Given the description of an element on the screen output the (x, y) to click on. 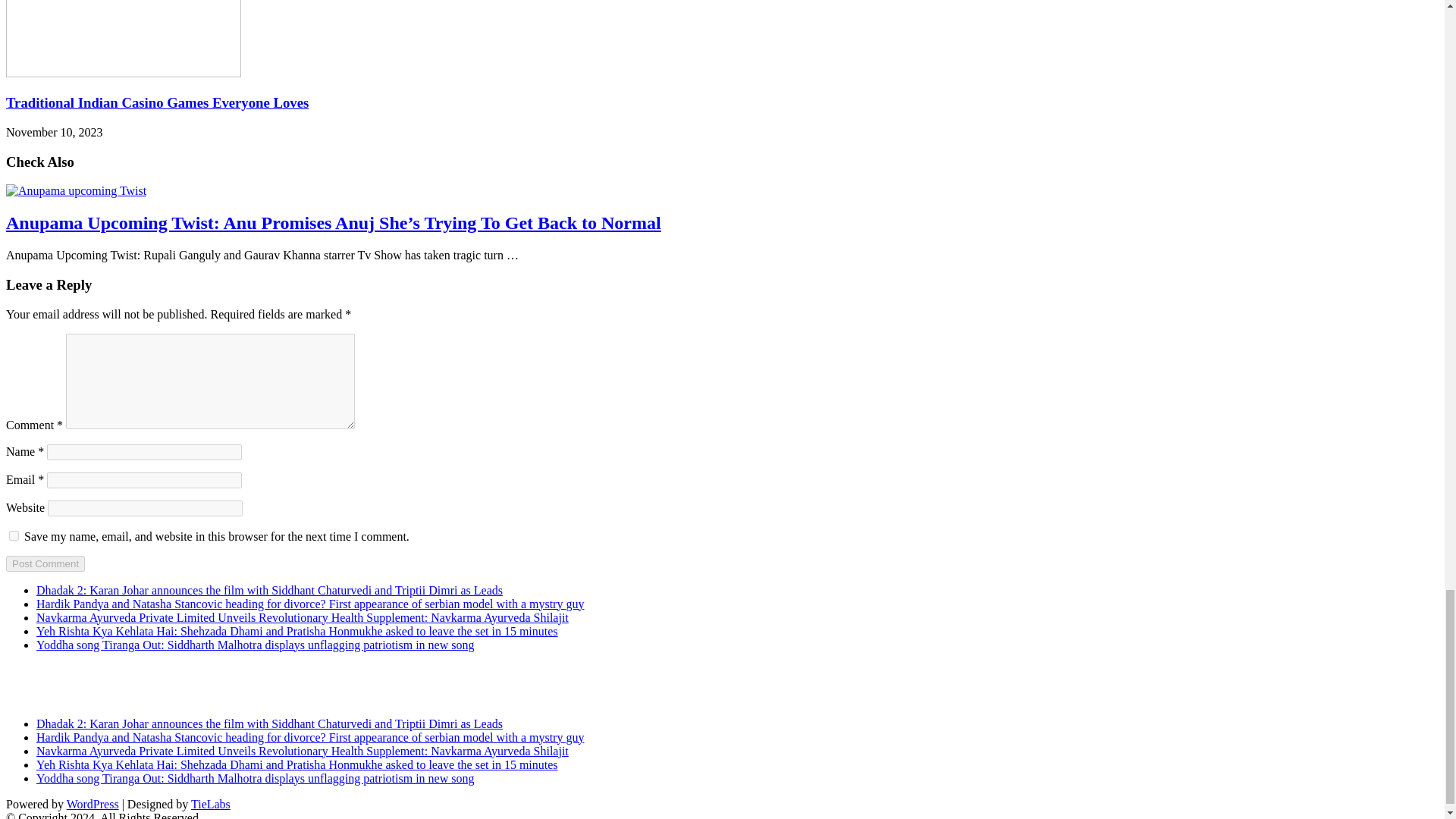
Post Comment (44, 563)
yes (13, 535)
